Given the description of an element on the screen output the (x, y) to click on. 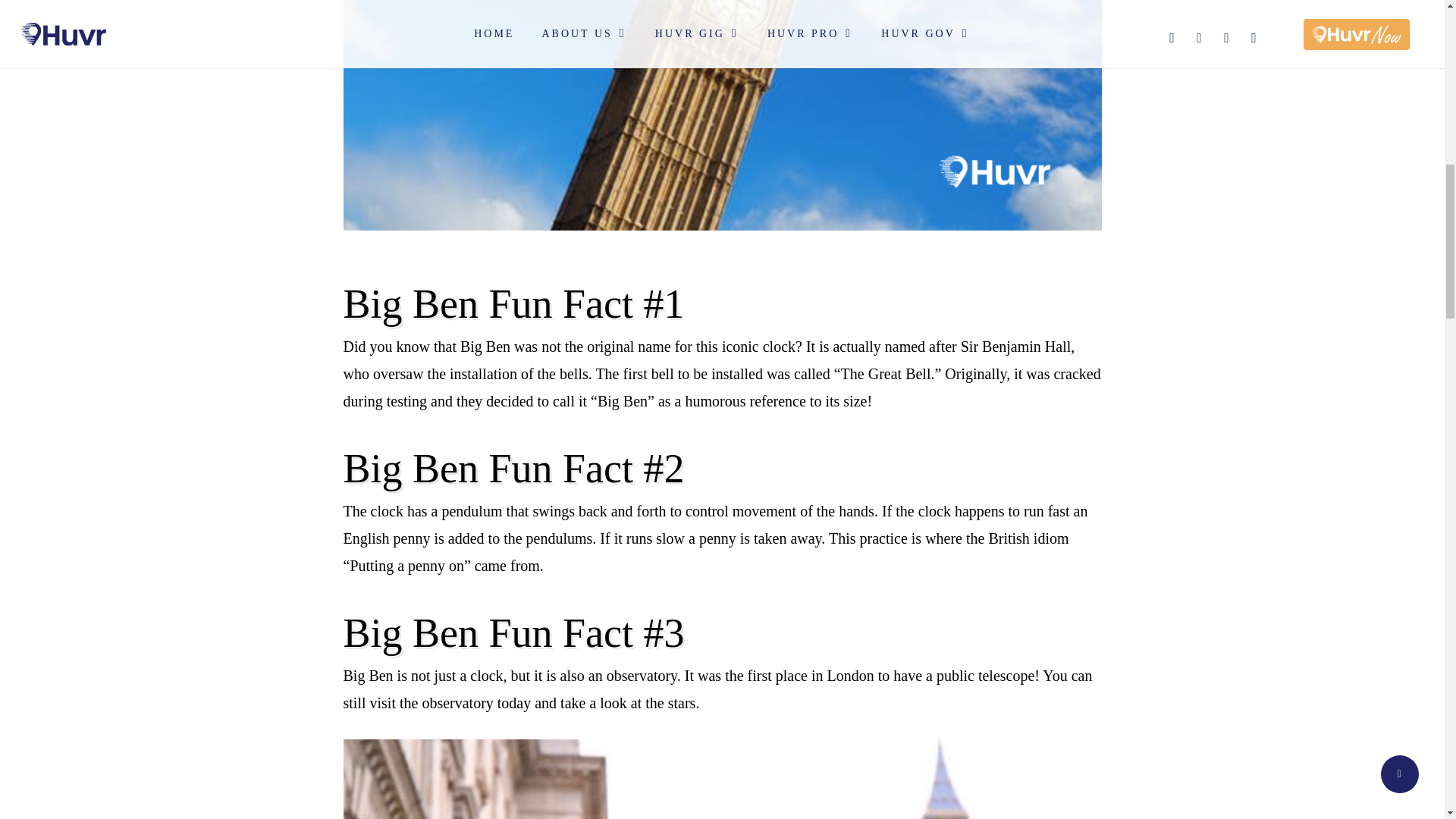
2 (721, 778)
